Given the description of an element on the screen output the (x, y) to click on. 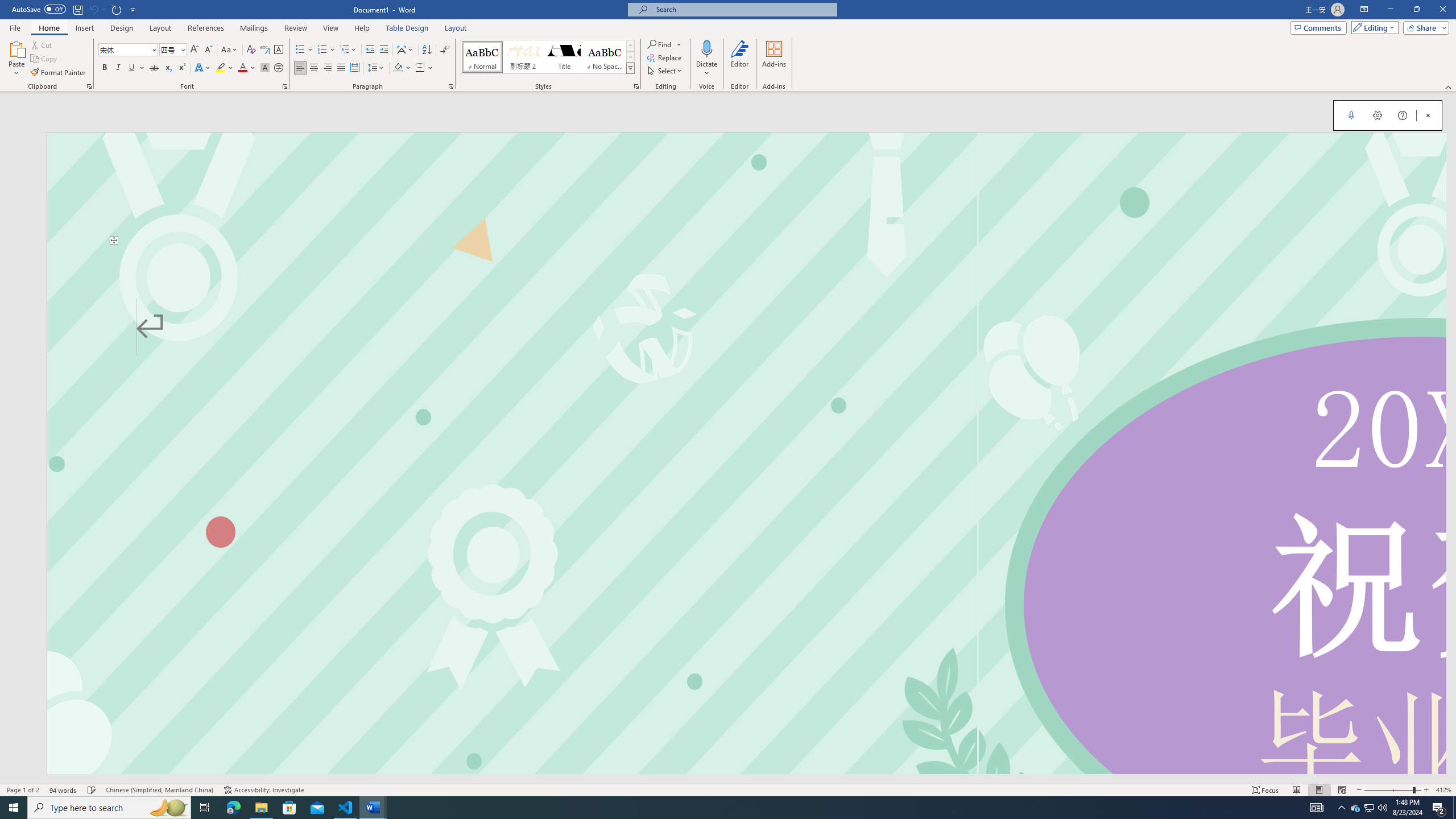
Word Count 94 words (63, 790)
Select (665, 69)
Table Design (407, 28)
Accessibility Checker Accessibility: Investigate (263, 790)
